Given the description of an element on the screen output the (x, y) to click on. 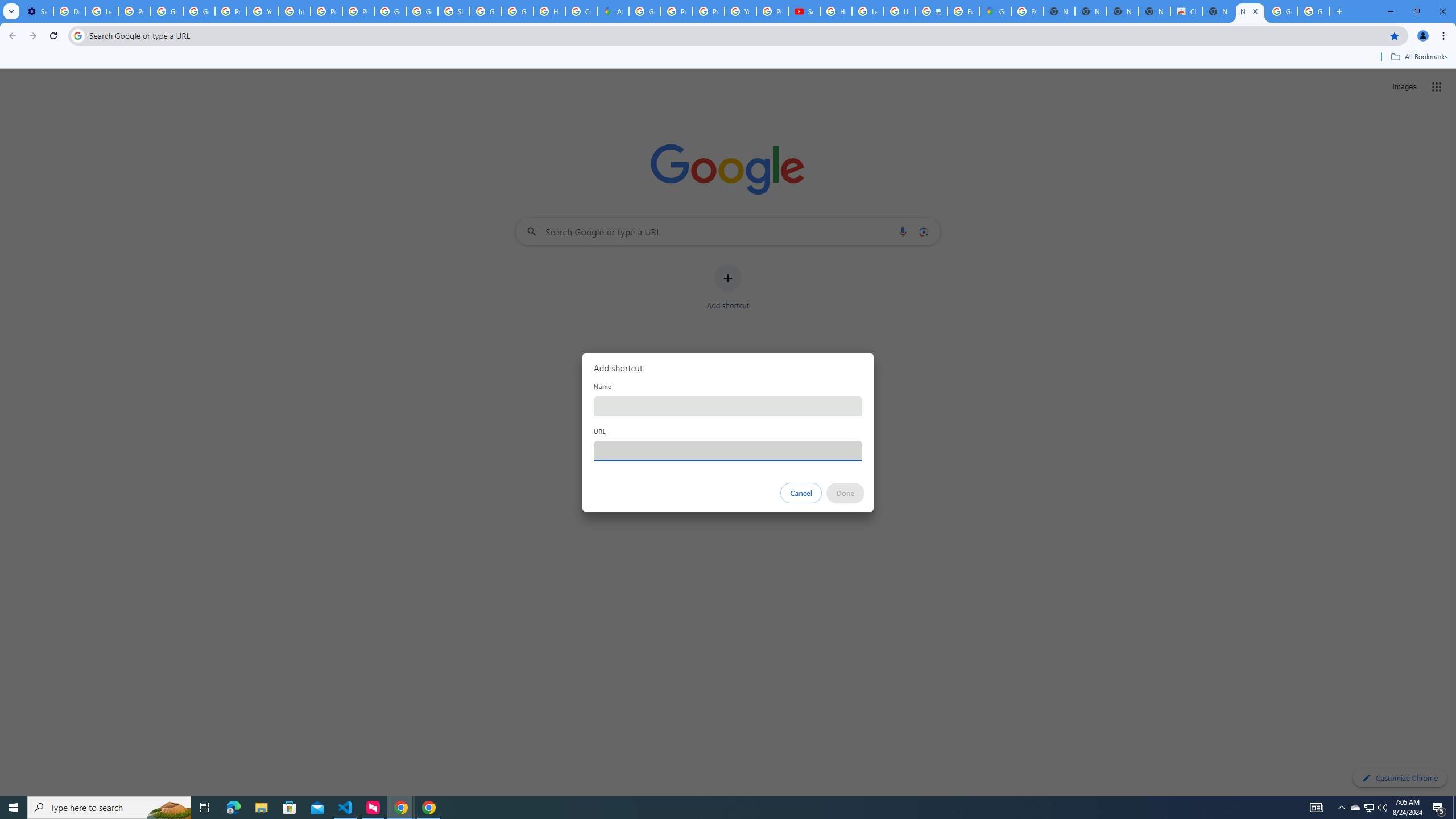
New Tab (1249, 11)
Minimize (1390, 11)
Name (727, 405)
YouTube (740, 11)
Forward (32, 35)
YouTube (262, 11)
Chrome Web Store (1185, 11)
Back (10, 35)
Settings - Performance (37, 11)
